Given the description of an element on the screen output the (x, y) to click on. 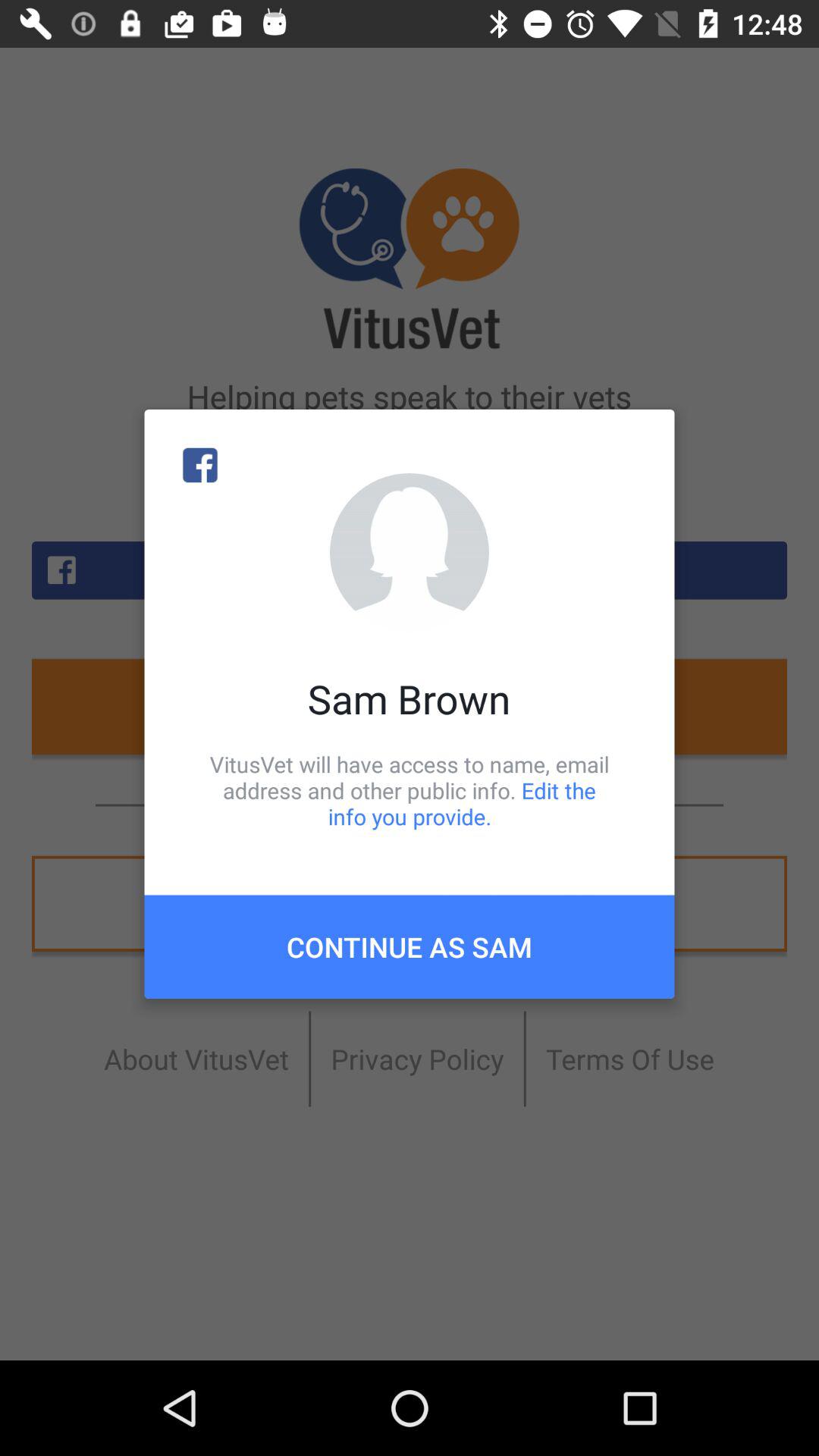
select item below sam brown icon (409, 790)
